Given the description of an element on the screen output the (x, y) to click on. 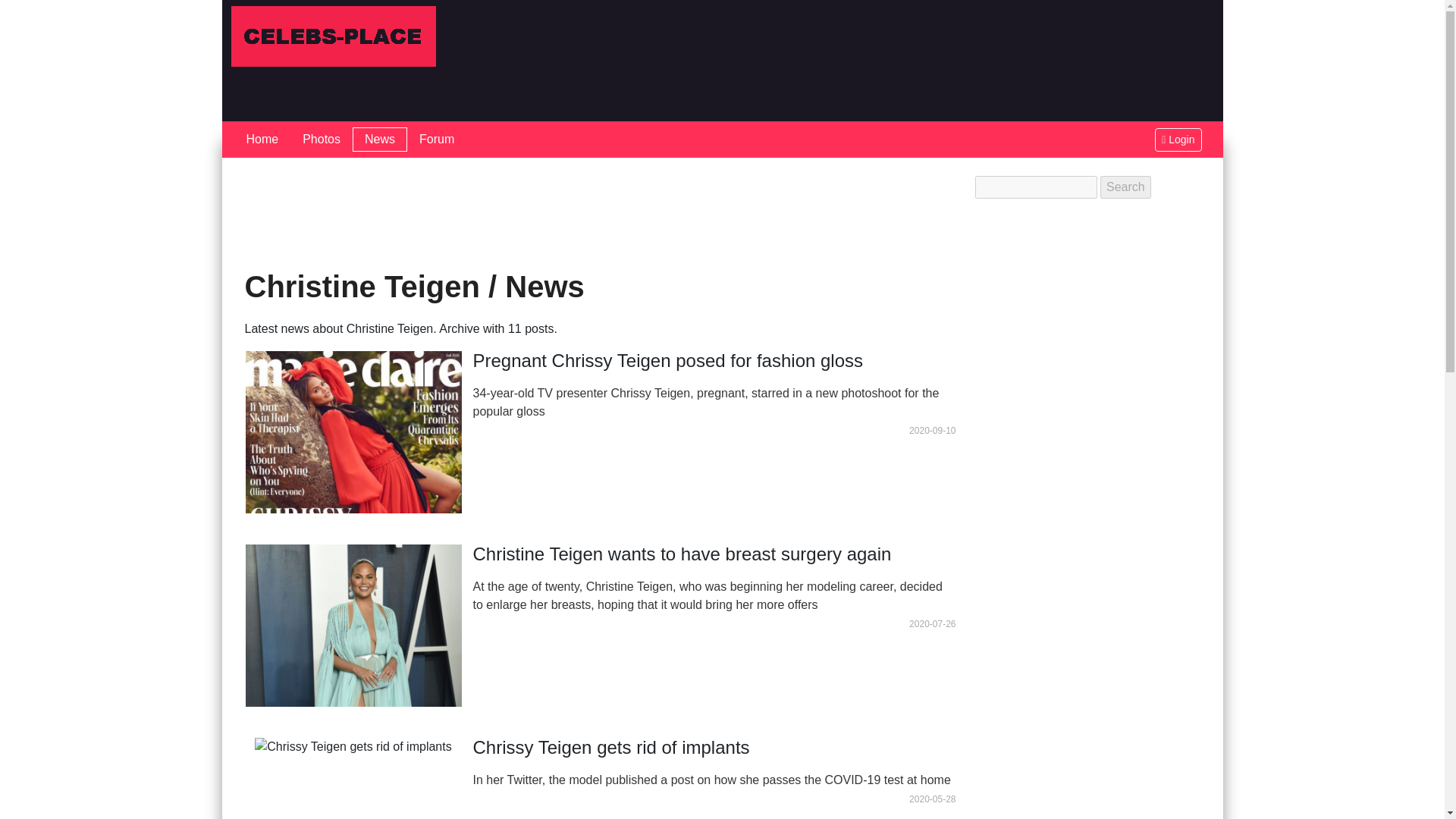
Forum (436, 139)
Login (1177, 138)
Search (1125, 187)
Search (1125, 187)
Photos (320, 139)
Home (260, 139)
News (379, 139)
